Given the description of an element on the screen output the (x, y) to click on. 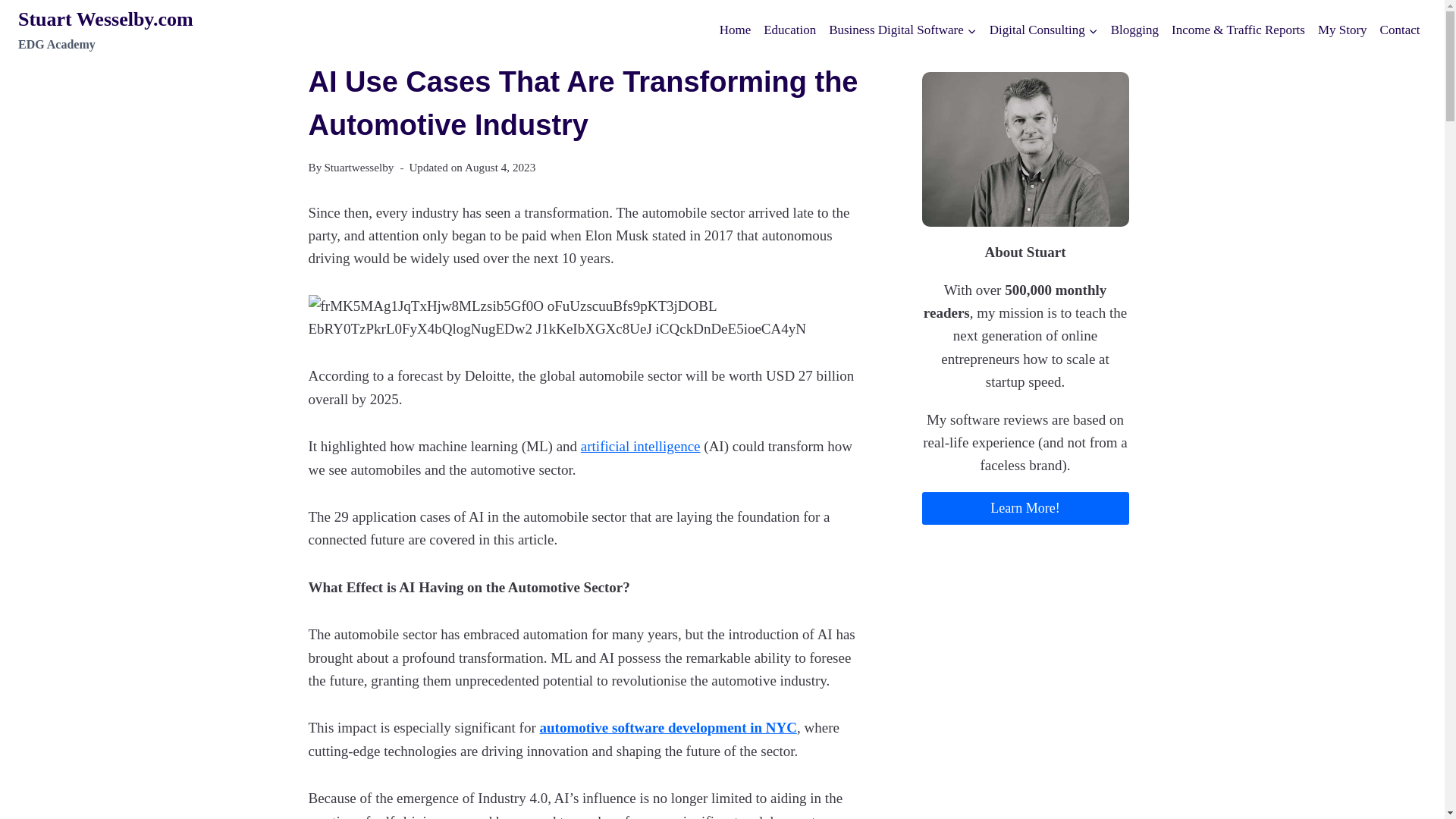
My Story (1342, 30)
Education (789, 30)
Contact (105, 30)
AI Use Cases That Are Transforming the Automotive Industry 1 (1399, 30)
automotive software development in NYC (585, 317)
Home (667, 727)
artificial intelligence (735, 30)
Digital Consulting (640, 446)
Business Digital Software (1042, 30)
